Given the description of an element on the screen output the (x, y) to click on. 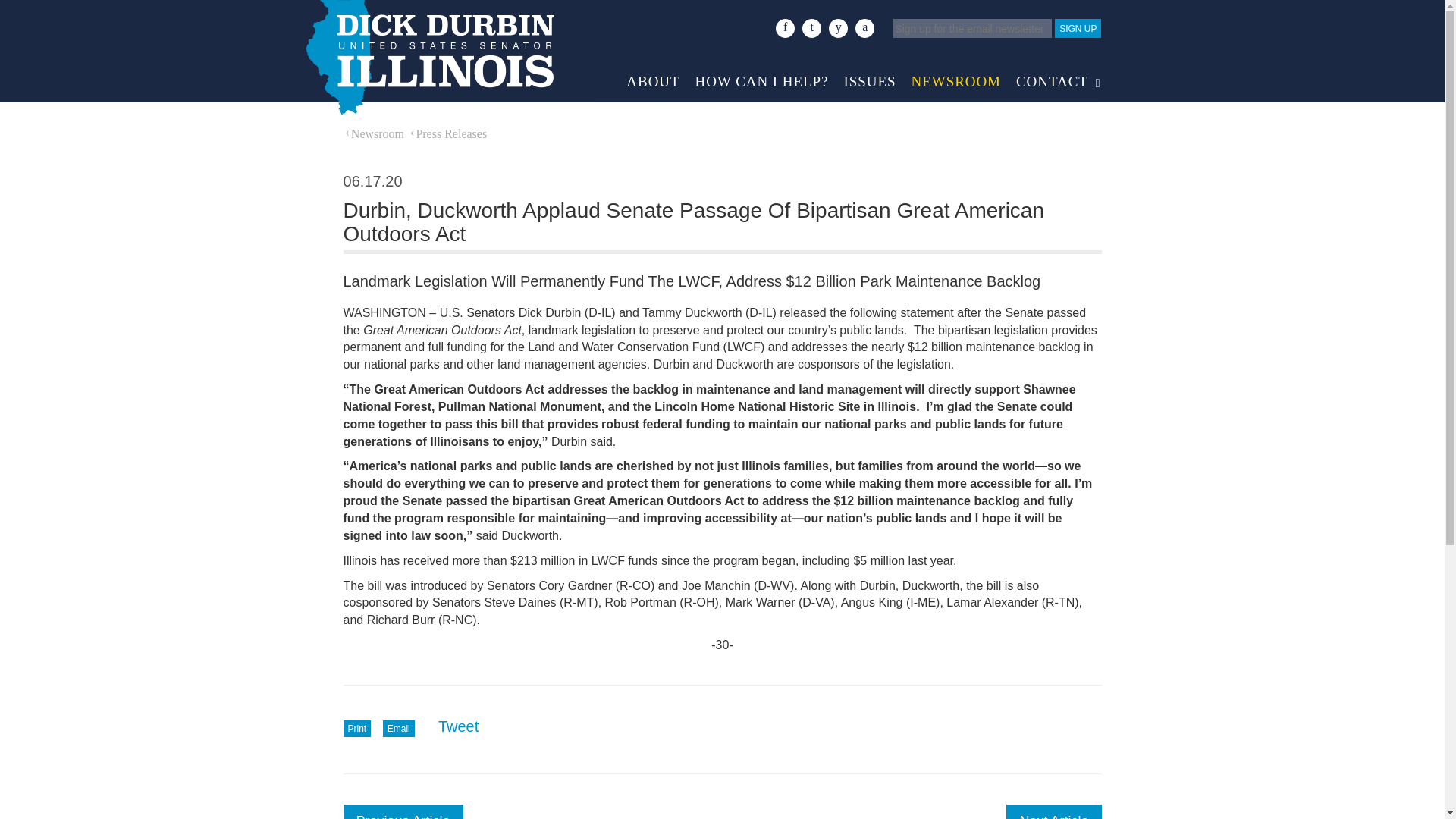
t (811, 27)
a (865, 27)
SIGN UP (1077, 27)
f (785, 27)
Senator Dick Durbin (428, 58)
SIGN UP (1077, 27)
y (837, 27)
ABOUT (652, 77)
